Given the description of an element on the screen output the (x, y) to click on. 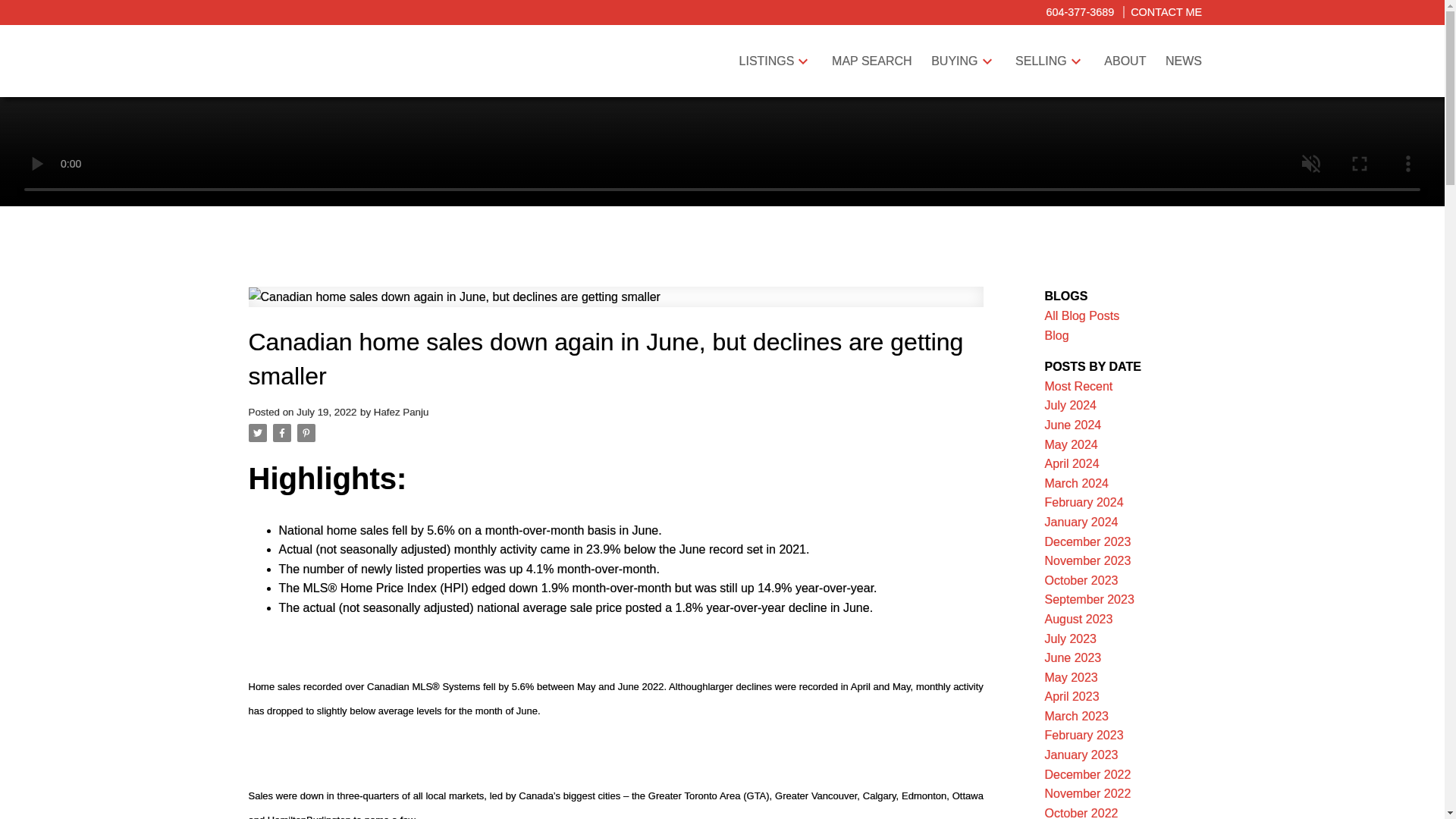
March 2024 (1077, 482)
December 2023 (1088, 541)
July 2024 (1071, 404)
Blog (1056, 335)
  604-377-3689 (1079, 11)
ABOUT (1124, 61)
CONTACT ME (1162, 11)
MAP SEARCH (871, 61)
January 2024 (1081, 521)
LISTINGS (766, 61)
Most Recent (1079, 386)
June 2024 (1073, 424)
April 2024 (1072, 463)
February 2024 (1084, 502)
All Blog Posts (1082, 315)
